Given the description of an element on the screen output the (x, y) to click on. 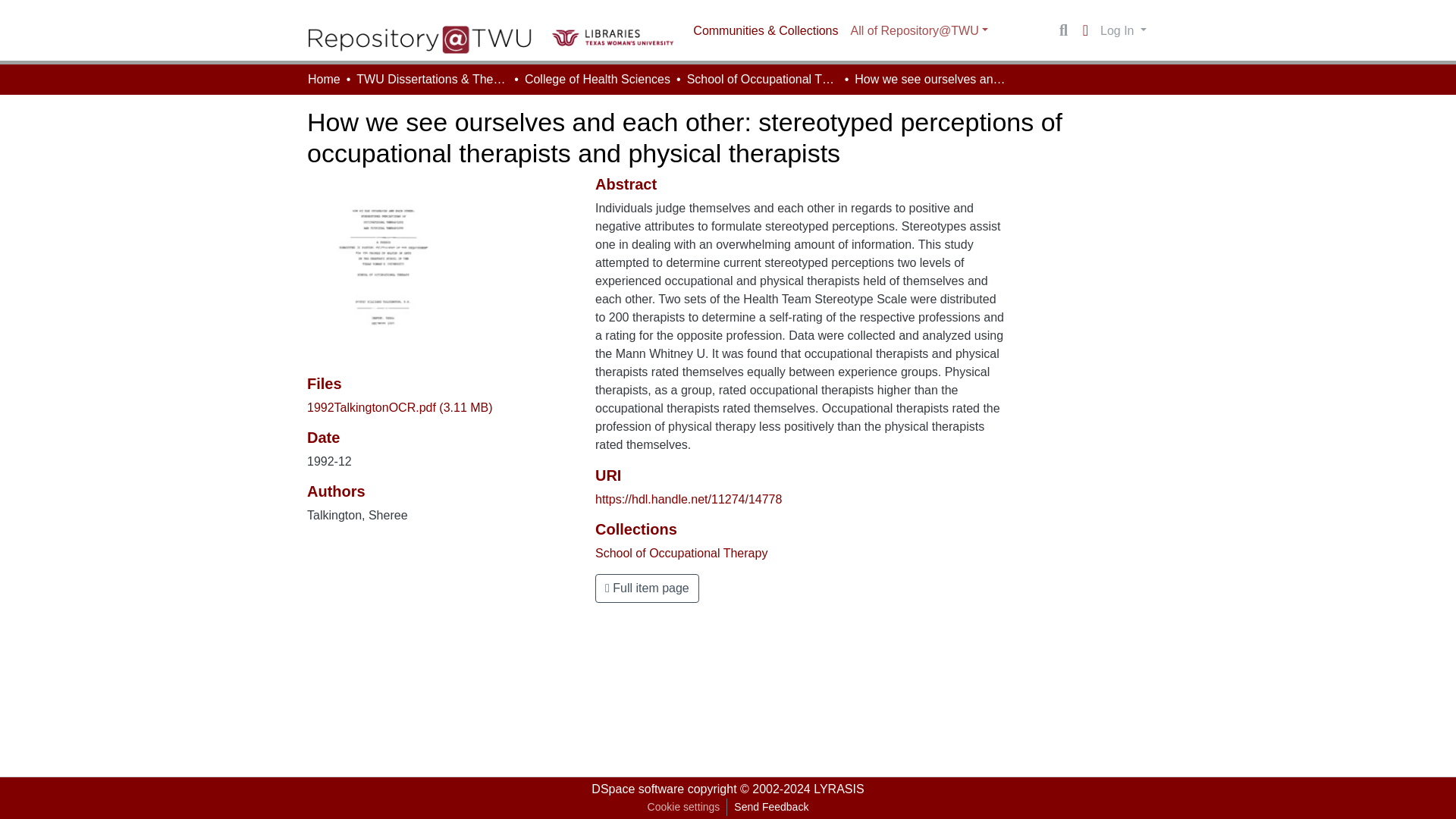
College of Health Sciences (596, 79)
DSpace software (637, 788)
School of Occupational Therapy (681, 553)
Log In (1122, 30)
Send Feedback (770, 806)
Cookie settings (683, 806)
Home (323, 79)
Full item page (646, 588)
Search (1063, 30)
LYRASIS (838, 788)
School of Occupational Therapy (762, 79)
Language switch (1084, 30)
